Given the description of an element on the screen output the (x, y) to click on. 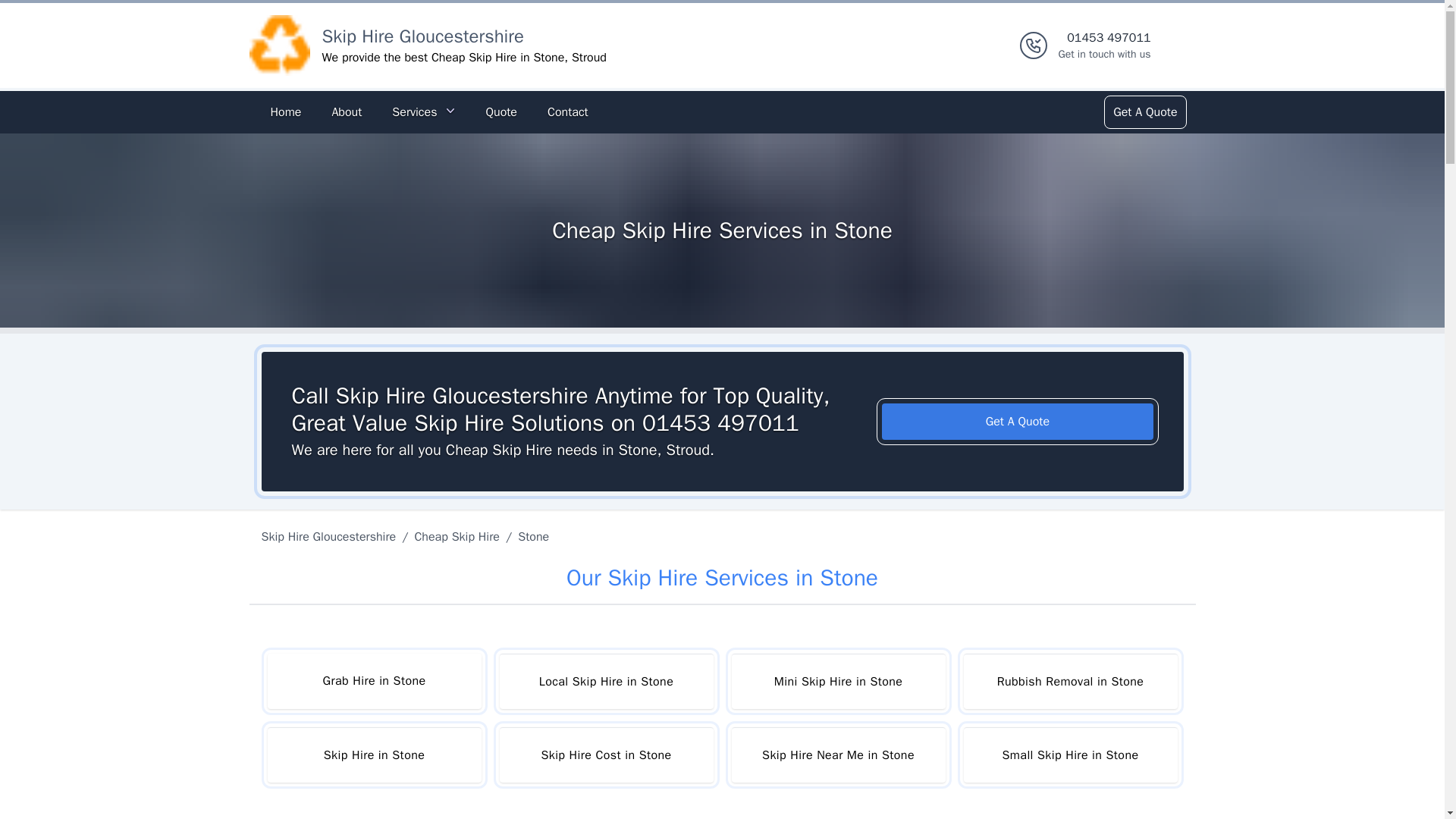
Services (423, 112)
Logo (278, 45)
Local Skip Hire in Stone (606, 681)
Mini Skip Hire in Stone (837, 681)
Contact (567, 112)
Get A Quote (1144, 112)
Skip Hire in Stone (373, 754)
Rubbish Removal in Stone (1069, 681)
Grab Hire in Stone (373, 681)
Small Skip Hire in Stone (1069, 754)
